Given the description of an element on the screen output the (x, y) to click on. 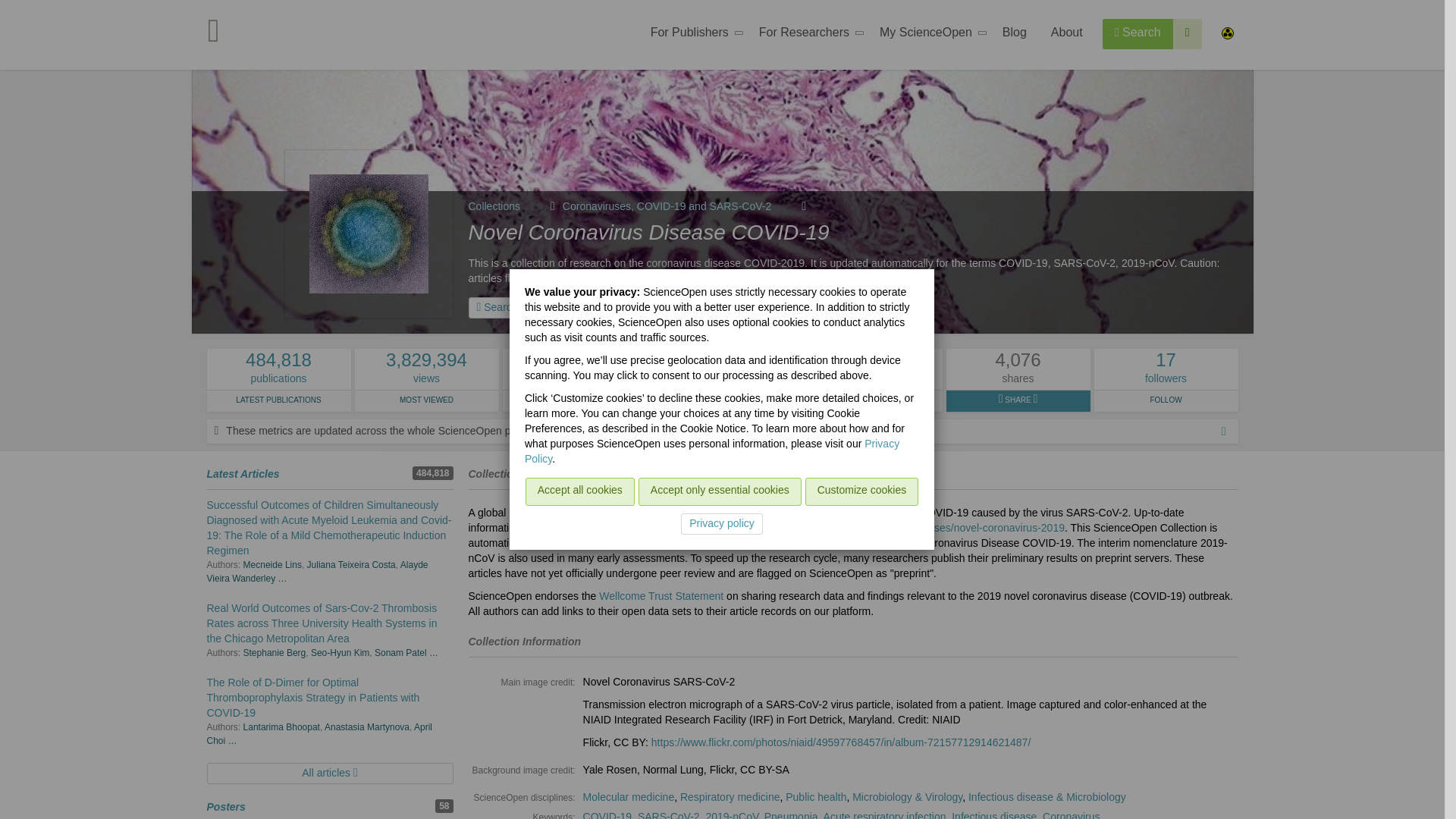
My ScienceOpen (928, 34)
For Publishers (692, 34)
Collections (511, 205)
Advanced search (1187, 33)
Coronaviruses, COVID-19 and SARS-CoV-2 (684, 205)
Search (1137, 33)
For Researchers (806, 34)
